Given the description of an element on the screen output the (x, y) to click on. 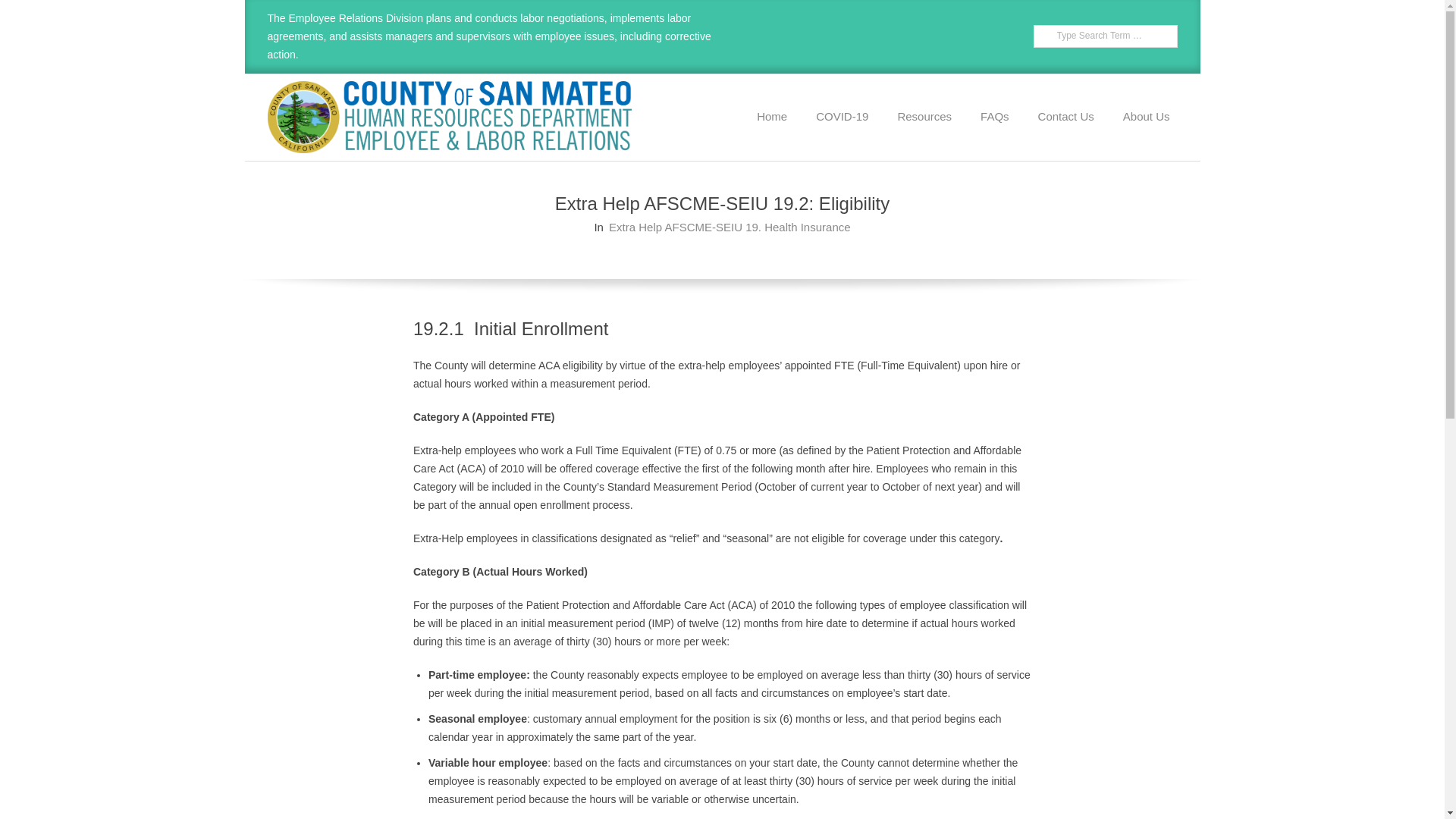
Resources (924, 116)
COVID-19 (842, 116)
Home (771, 116)
